Given the description of an element on the screen output the (x, y) to click on. 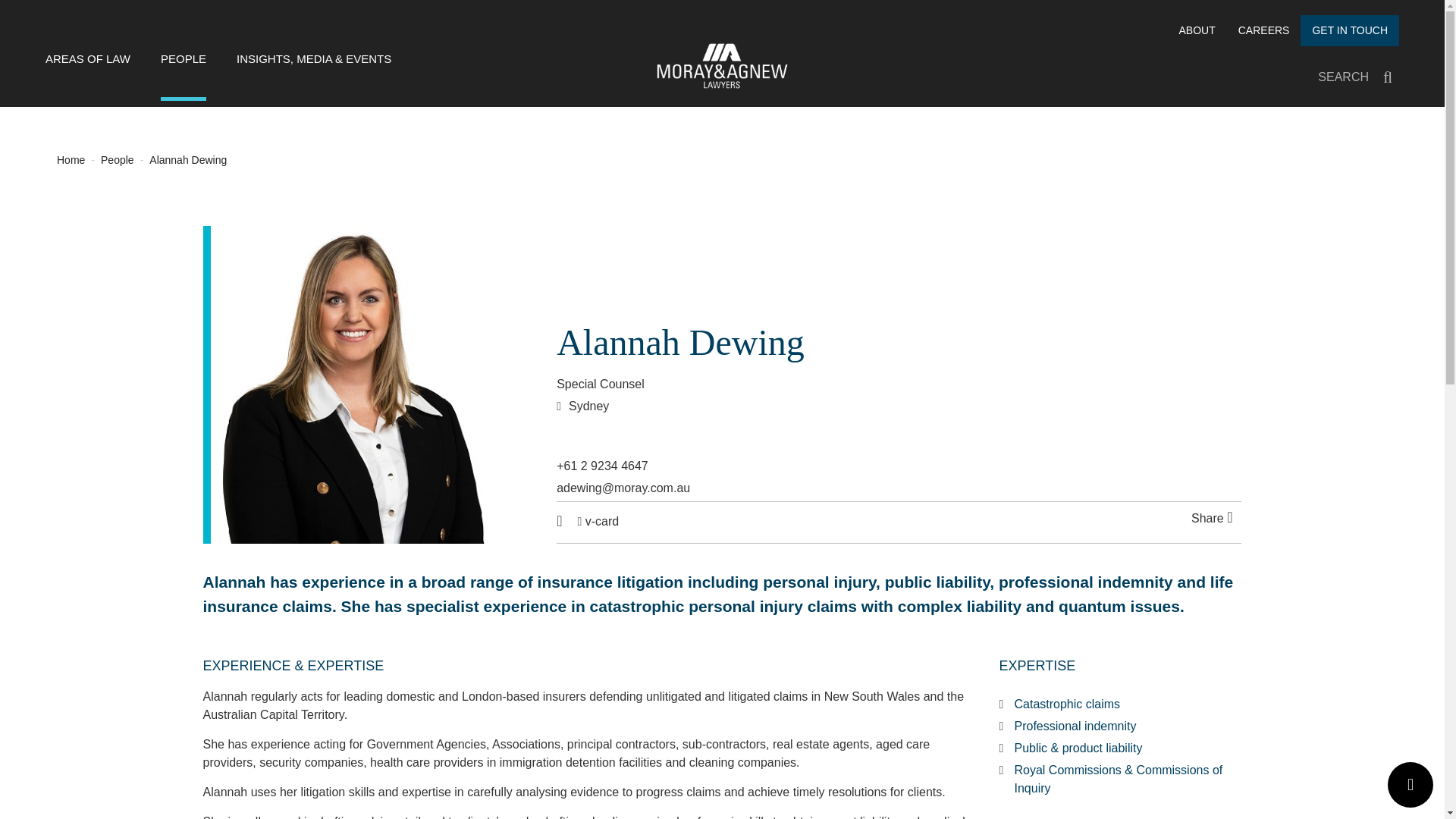
AREAS OF LAW (88, 75)
CAREERS (1264, 30)
ABOUT (1197, 30)
GET IN TOUCH (1349, 30)
